Given the description of an element on the screen output the (x, y) to click on. 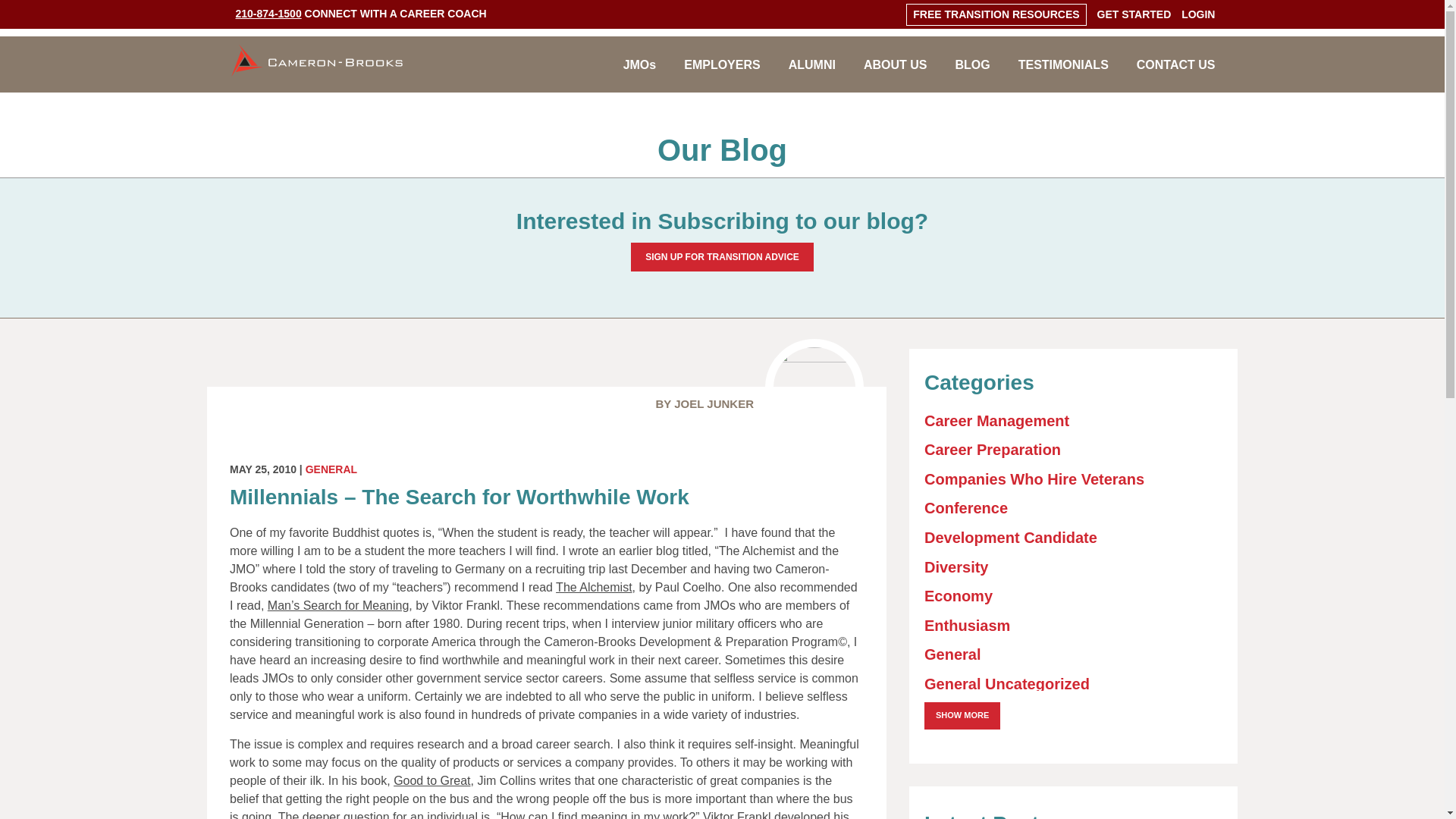
GET STARTED (1133, 14)
JMOs (639, 74)
ALUMNI (812, 74)
LOGIN (1197, 14)
210-874-1500 (267, 13)
FREE TRANSITION RESOURCES (995, 14)
ABOUT US (895, 74)
EMPLOYERS (722, 74)
